Given the description of an element on the screen output the (x, y) to click on. 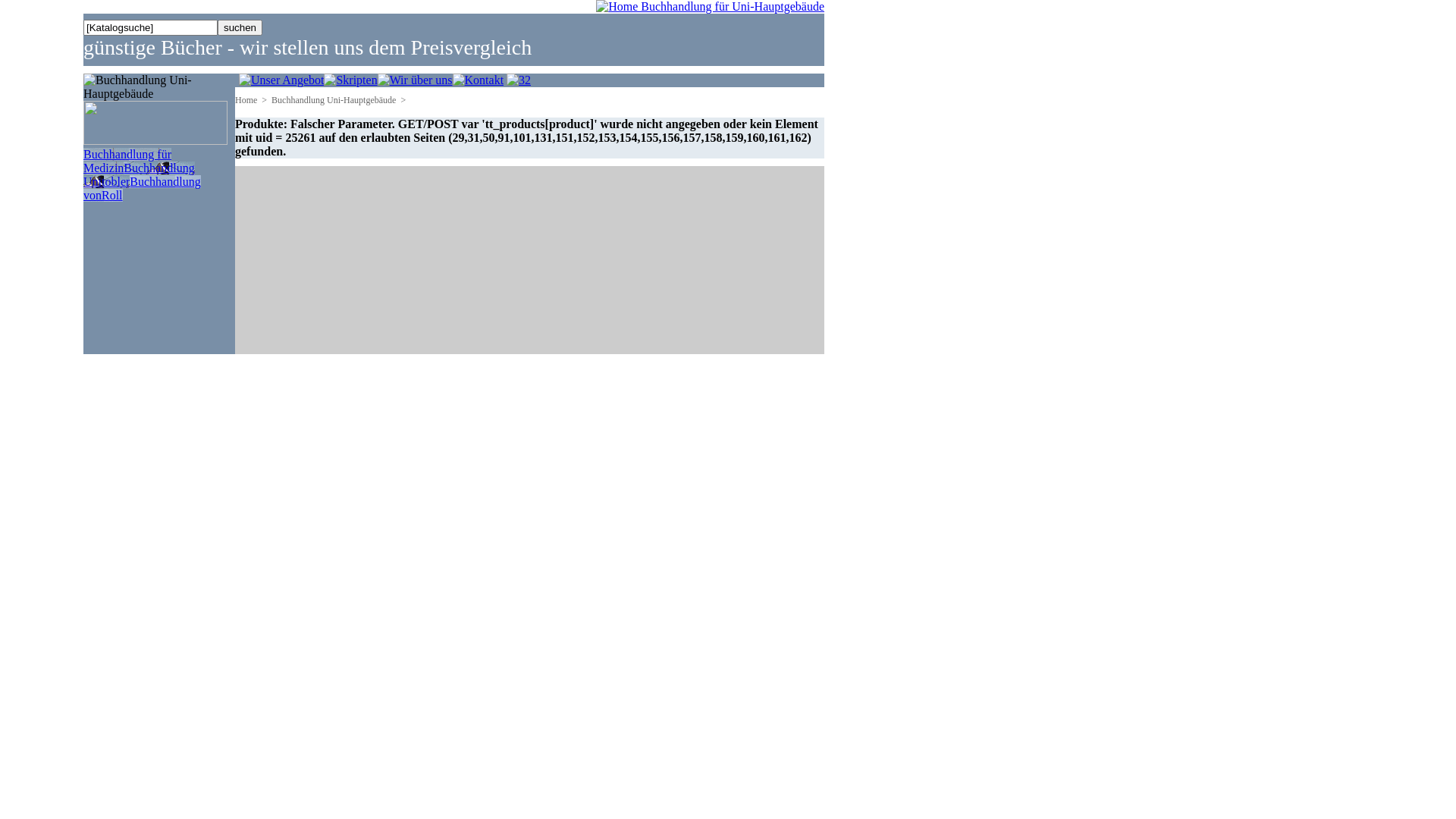
Buchhandlung Unitobler Element type: text (138, 174)
suchen Element type: text (239, 27)
Skripten Element type: hover (349, 79)
[Katalogsuche] Element type: text (150, 27)
Kontakt Element type: hover (478, 79)
Buchhandlung vonRoll Element type: text (141, 188)
Unser Angebot Element type: hover (280, 79)
Home Element type: text (246, 99)
